Given the description of an element on the screen output the (x, y) to click on. 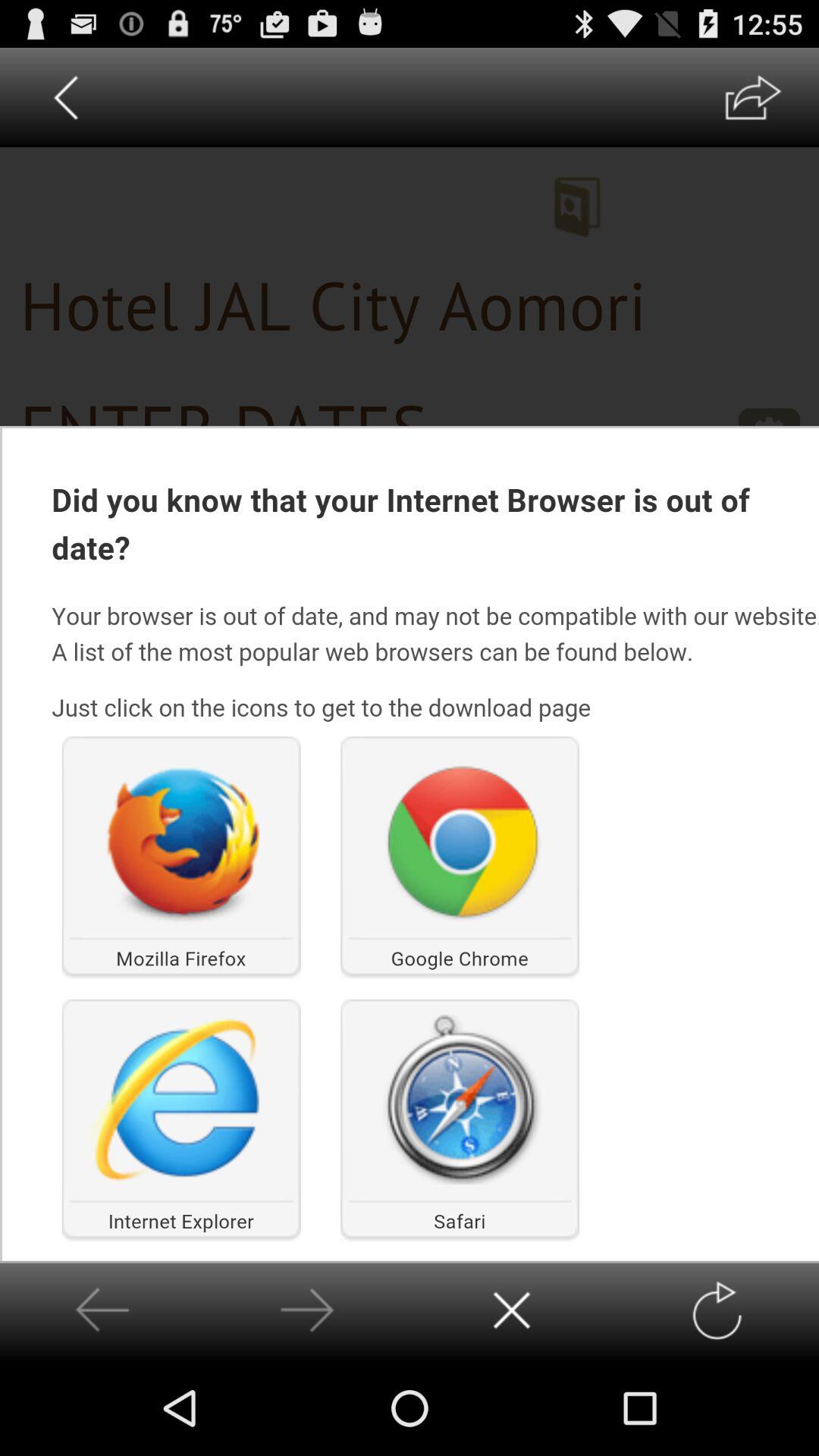
go back (102, 1310)
